Given the description of an element on the screen output the (x, y) to click on. 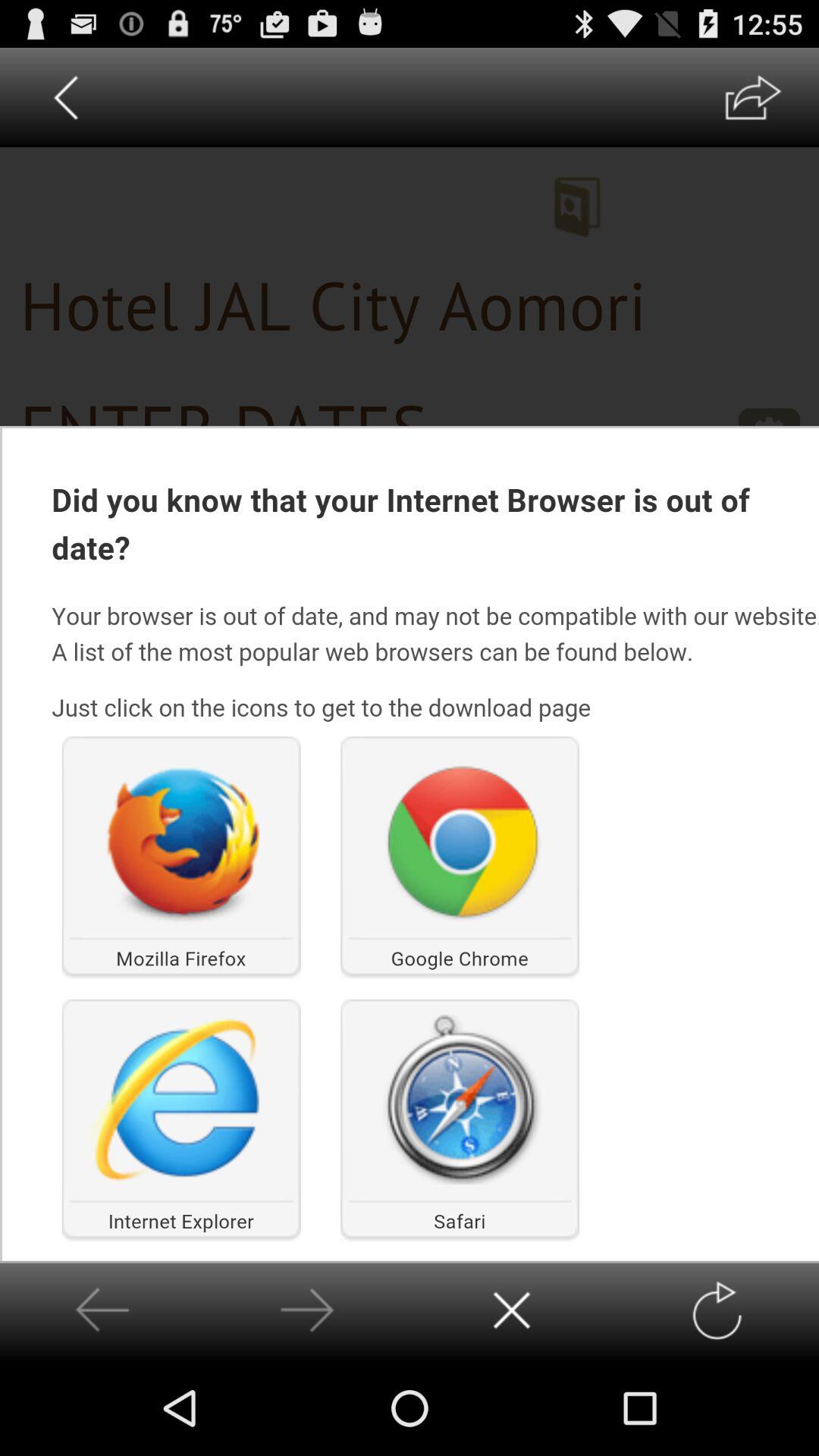
go back (102, 1310)
